Given the description of an element on the screen output the (x, y) to click on. 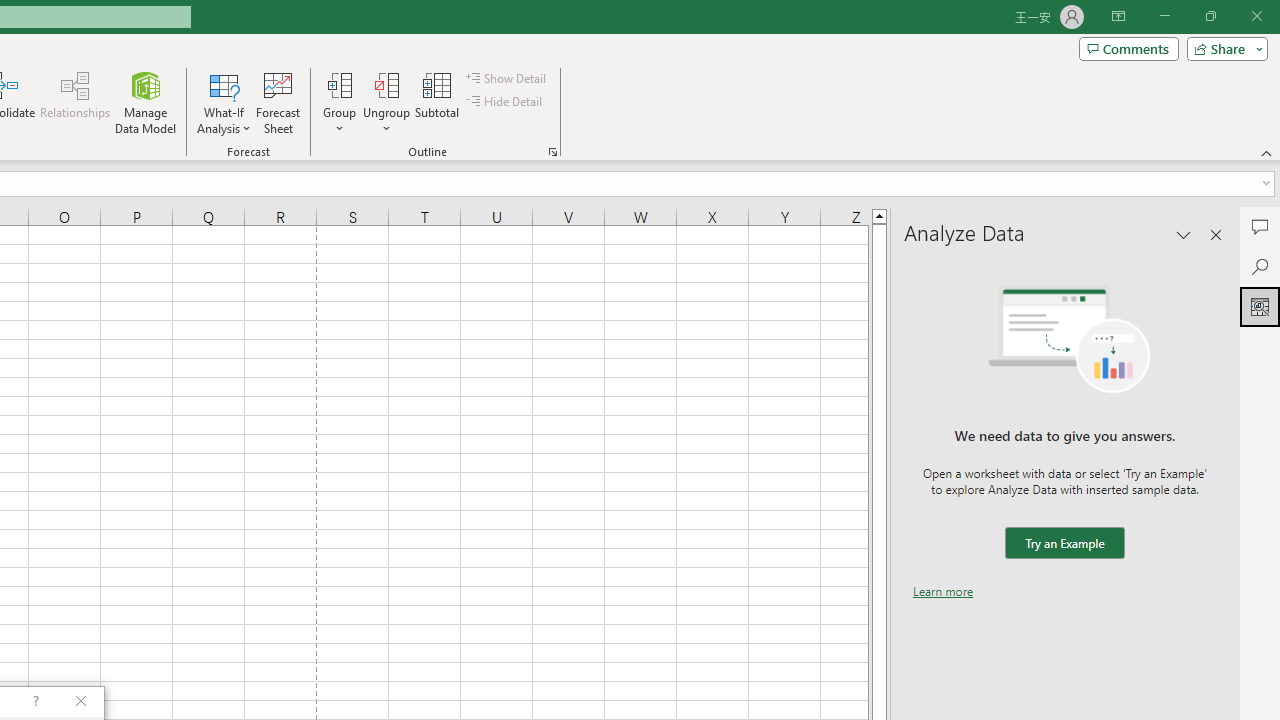
Minimize (1164, 16)
Task Pane Options (1183, 234)
What-If Analysis (223, 102)
Group and Outline Settings (552, 151)
Show Detail (507, 78)
Manage Data Model (145, 102)
Collapse the Ribbon (1267, 152)
Ungroup... (386, 84)
More Options (386, 121)
We need data to give you answers. Try an Example (1064, 543)
Close pane (1215, 234)
Comments (1260, 226)
Search (1260, 266)
Group... (339, 84)
